Given the description of an element on the screen output the (x, y) to click on. 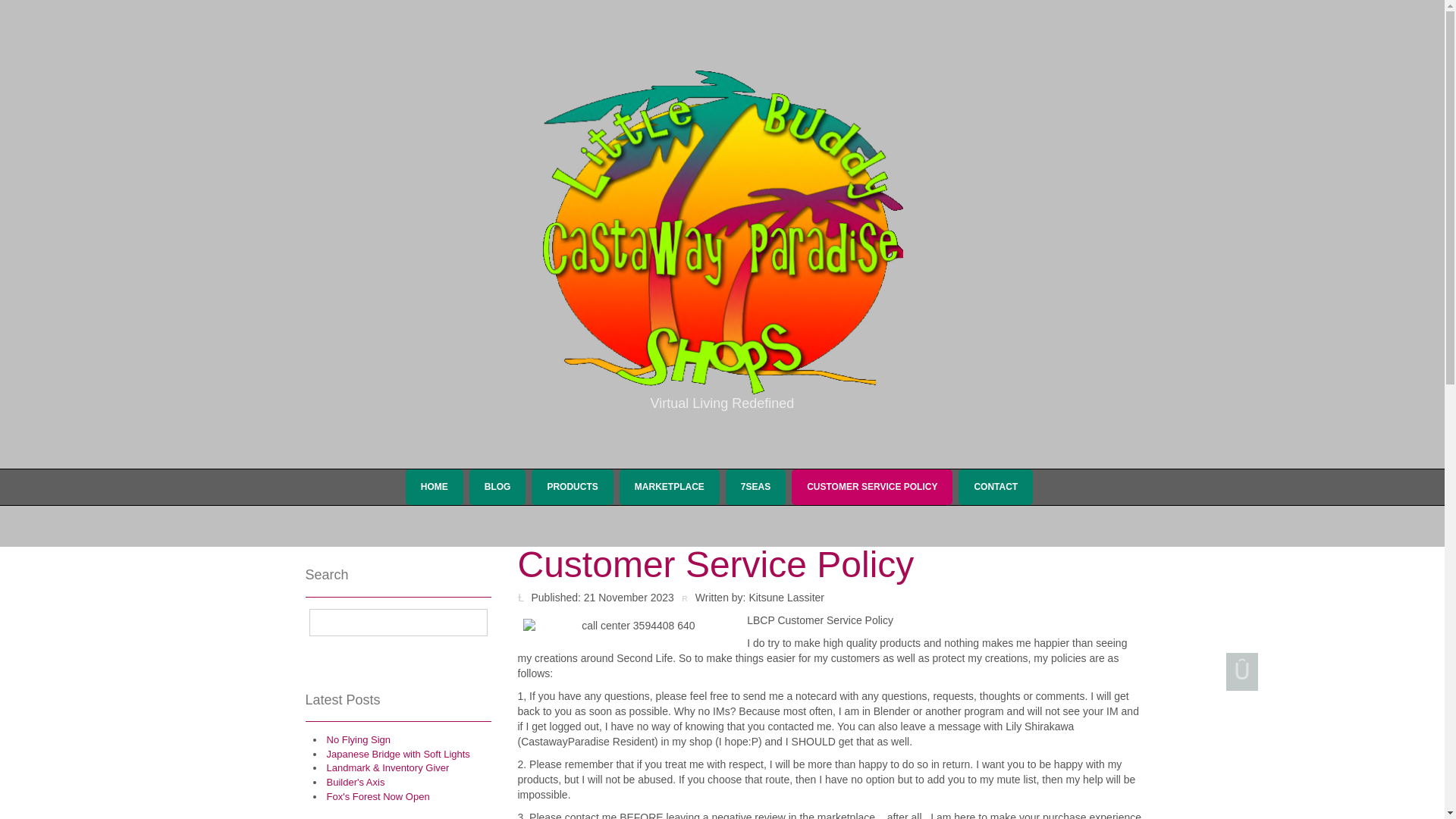
Customer Service Policy (715, 564)
Builder's Axis (355, 781)
No Flying Sign (358, 739)
7SEAS (755, 487)
PRODUCTS (571, 487)
CONTACT (995, 487)
HOME (434, 487)
Japanese Bridge with Soft Lights (397, 754)
BLOG (496, 487)
Fox's Forest Now Open (377, 796)
